Given the description of an element on the screen output the (x, y) to click on. 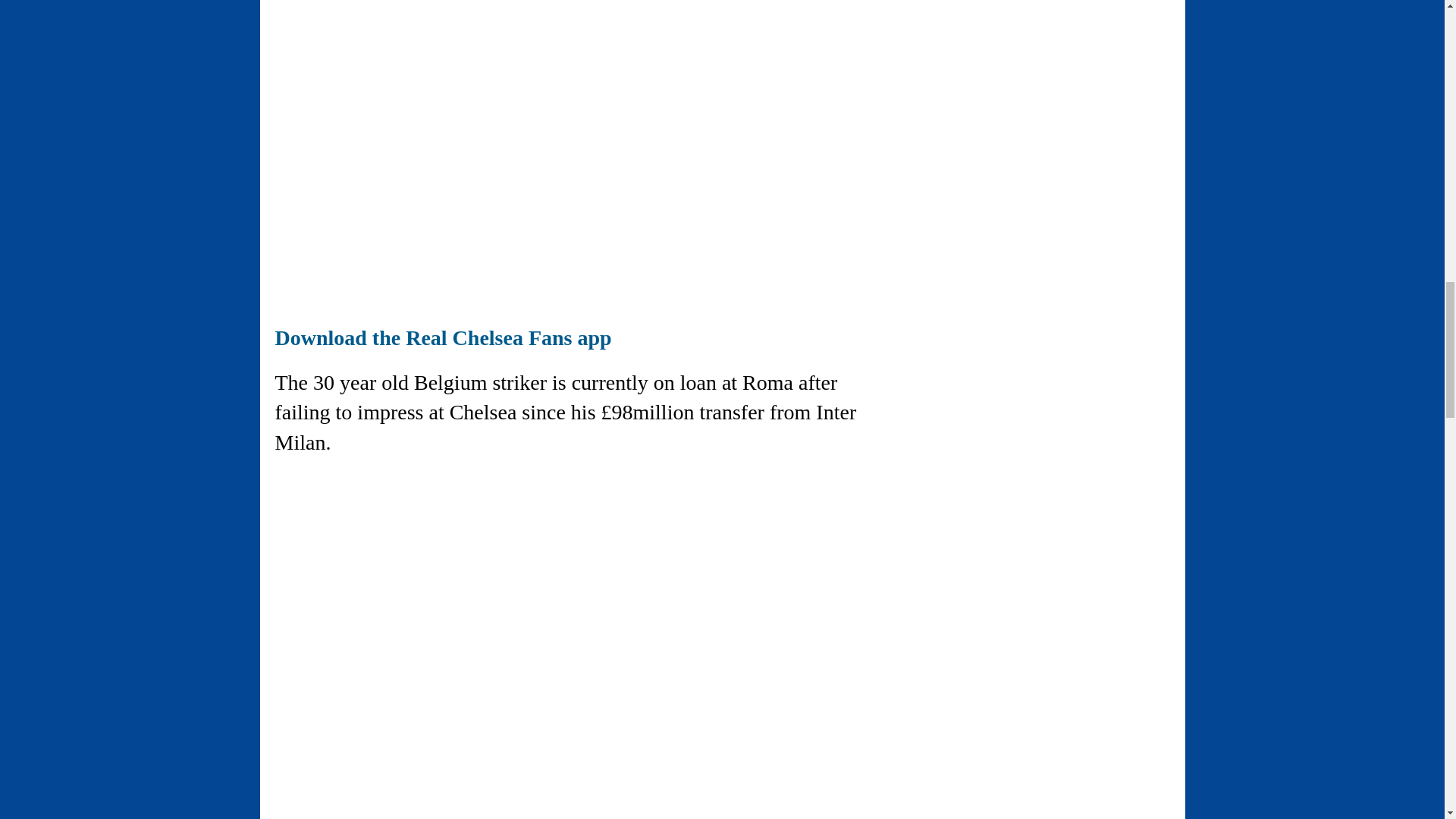
Advertisement (402, 578)
Advertisement (402, 34)
Download the Real Chelsea Fans app (443, 337)
Advertisement (402, 196)
Advertisement (402, 762)
